Given the description of an element on the screen output the (x, y) to click on. 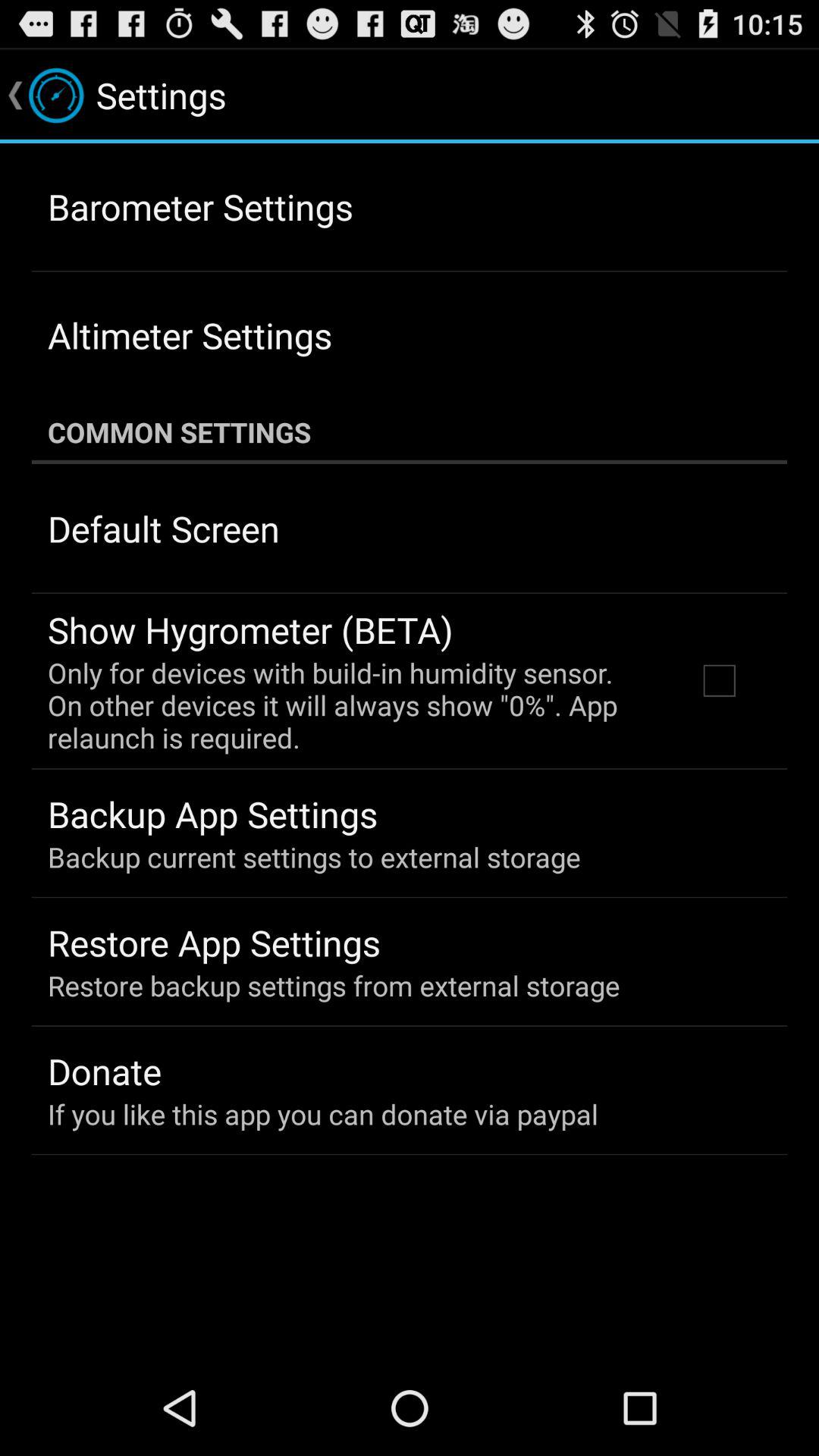
turn off the only for devices app (351, 705)
